Given the description of an element on the screen output the (x, y) to click on. 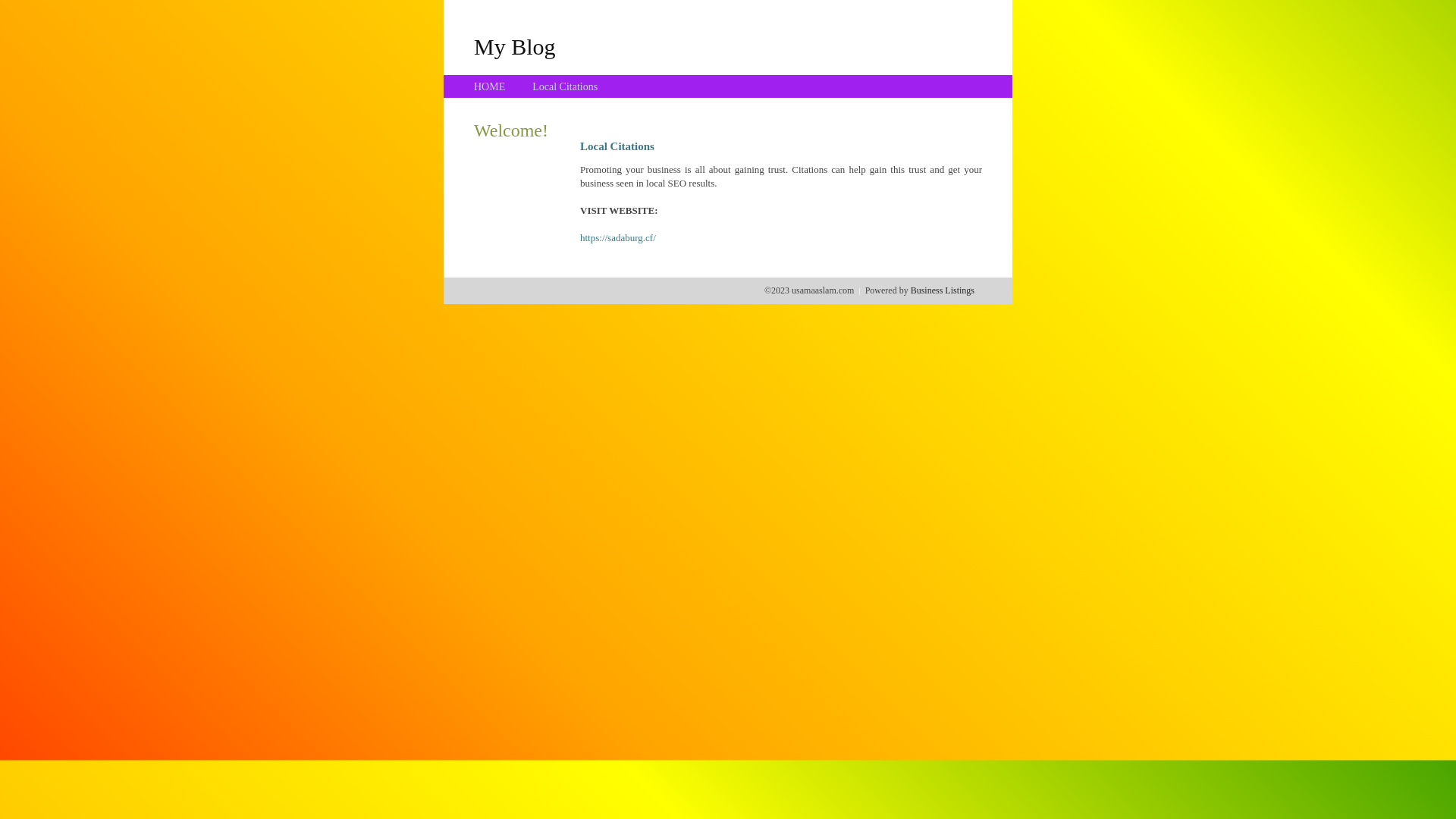
My Blog Element type: text (514, 46)
https://sadaburg.cf/ Element type: text (617, 237)
HOME Element type: text (489, 86)
Business Listings Element type: text (942, 290)
Local Citations Element type: text (564, 86)
